Given the description of an element on the screen output the (x, y) to click on. 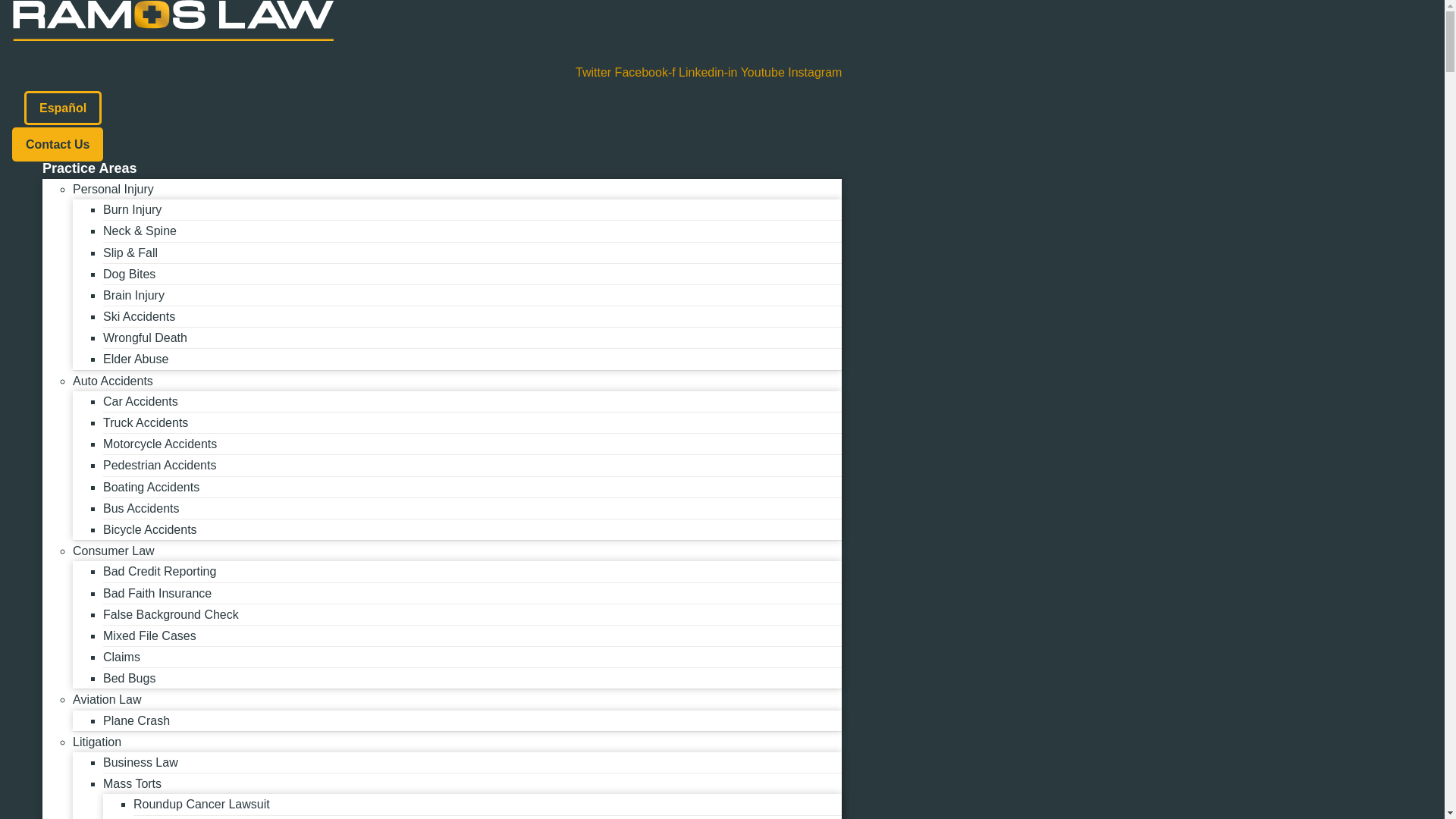
Bad Credit Reporting (159, 571)
Dog Bites (129, 273)
Consumer Law (113, 550)
Elder Abuse (135, 358)
Mass Torts (132, 783)
Litigation (96, 741)
Bicycle Accidents (149, 529)
Ski Accidents (138, 316)
False Background Check (170, 614)
Twitter (594, 72)
